Given the description of an element on the screen output the (x, y) to click on. 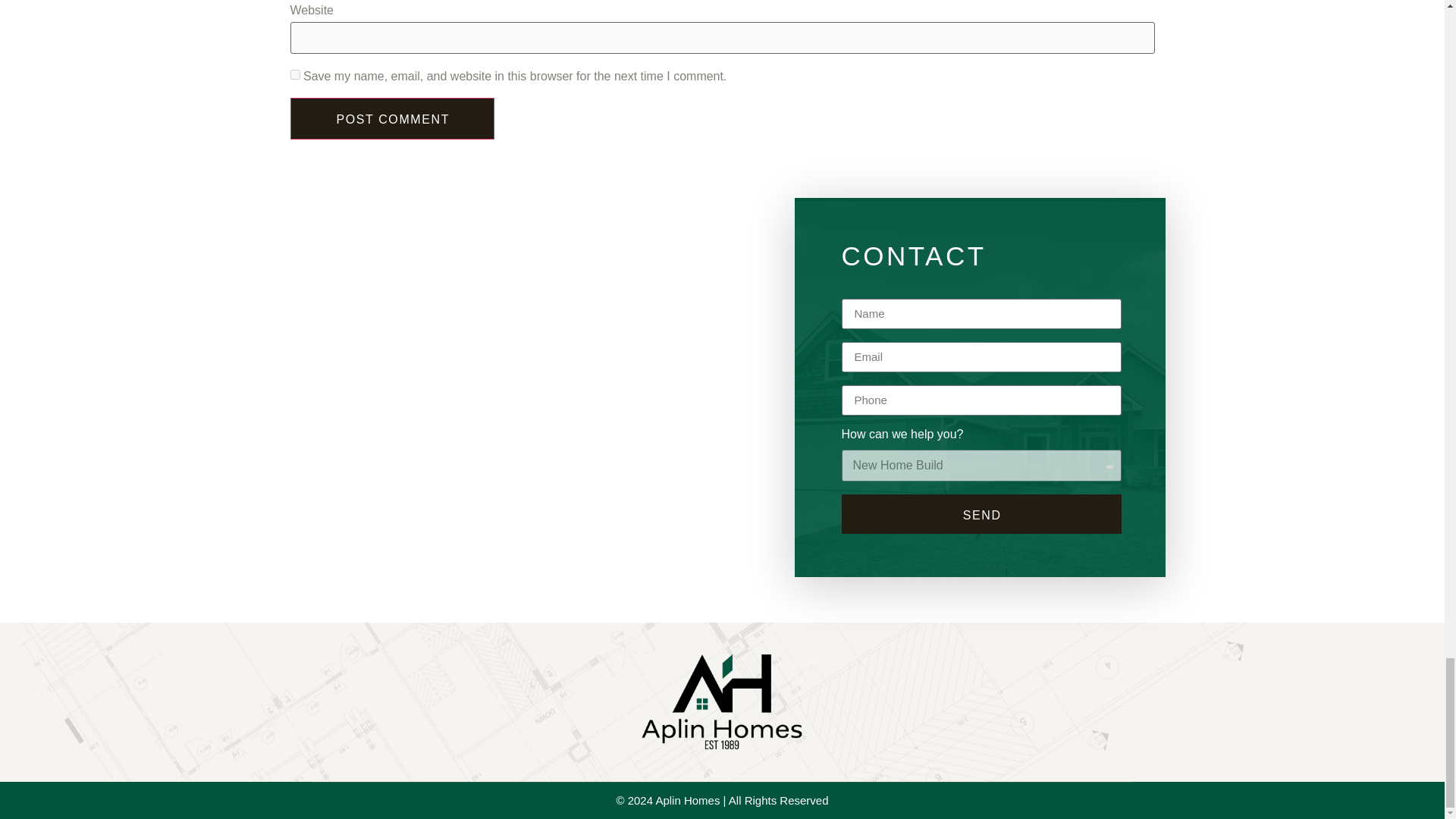
207 That Way St. Ste. A2 Lake Jackson, TX 77566 (512, 453)
yes (294, 74)
Post Comment (392, 117)
SEND (981, 513)
Post Comment (392, 117)
